Given the description of an element on the screen output the (x, y) to click on. 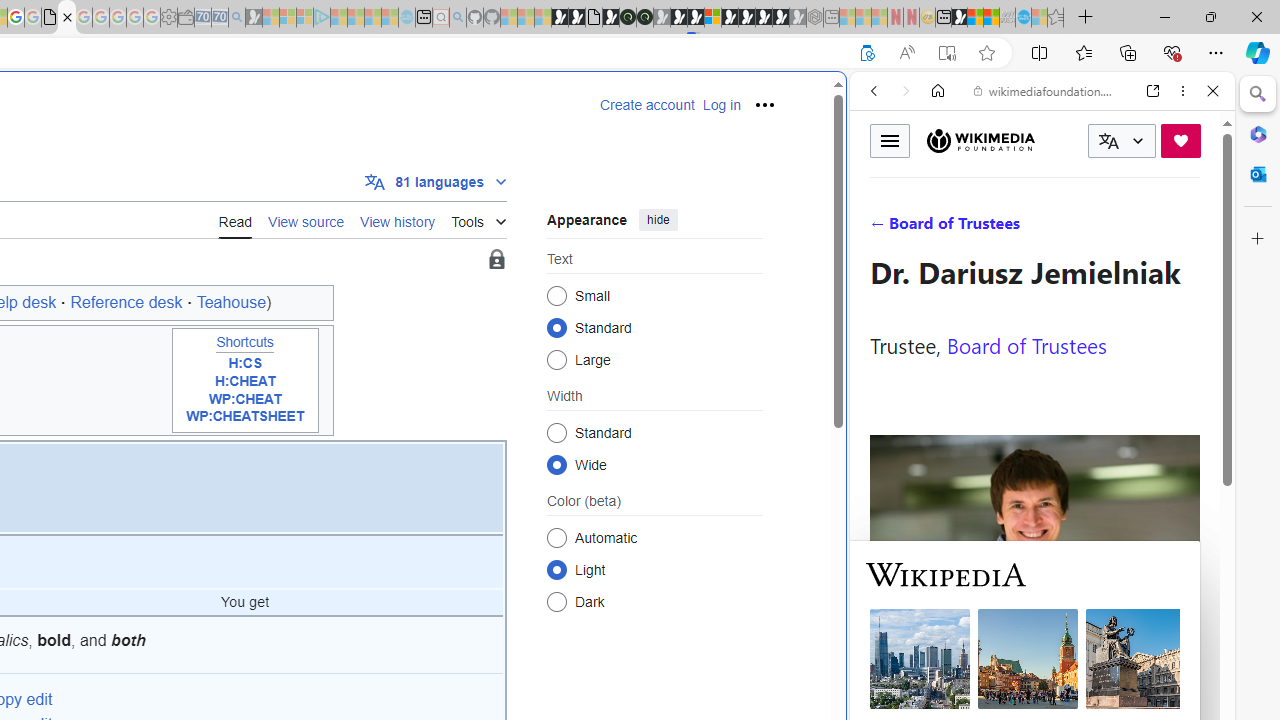
Read (235, 219)
Services - Maintenance | Sky Blue Bikes - Sky Blue Bikes (1023, 17)
Wikimedia Foundation (980, 141)
wikimediafoundation.org (1045, 90)
View history (397, 219)
